Given the description of an element on the screen output the (x, y) to click on. 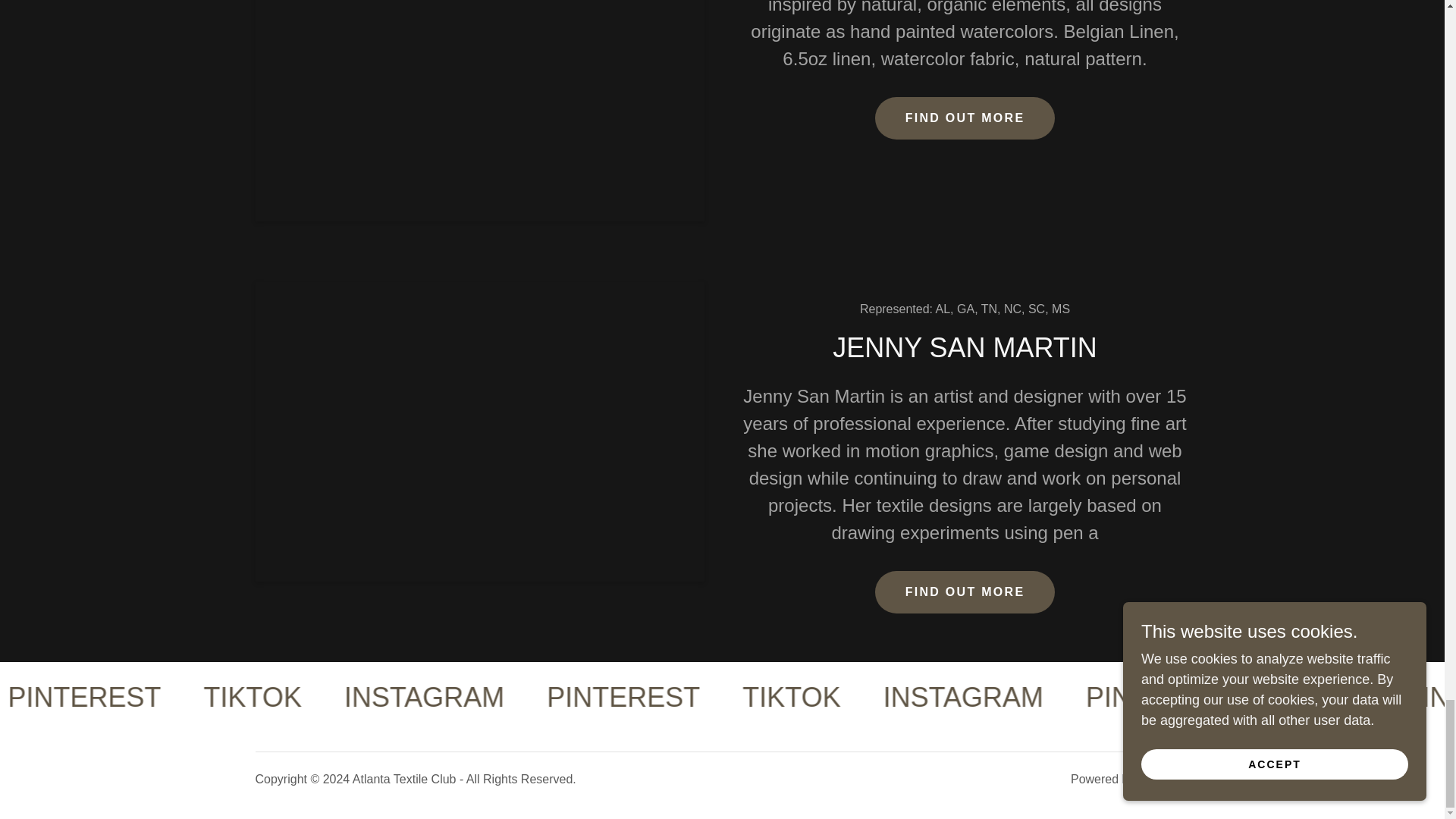
INSTAGRAM (60, 697)
TIKTOK (940, 697)
PINTEREST (1308, 697)
INSTAGRAM (1110, 697)
FIND OUT MORE (965, 118)
PINTEREST (773, 697)
TIKTOK (405, 697)
INSTAGRAM (576, 697)
FIND OUT MORE (965, 591)
PINTEREST (238, 697)
